Given the description of an element on the screen output the (x, y) to click on. 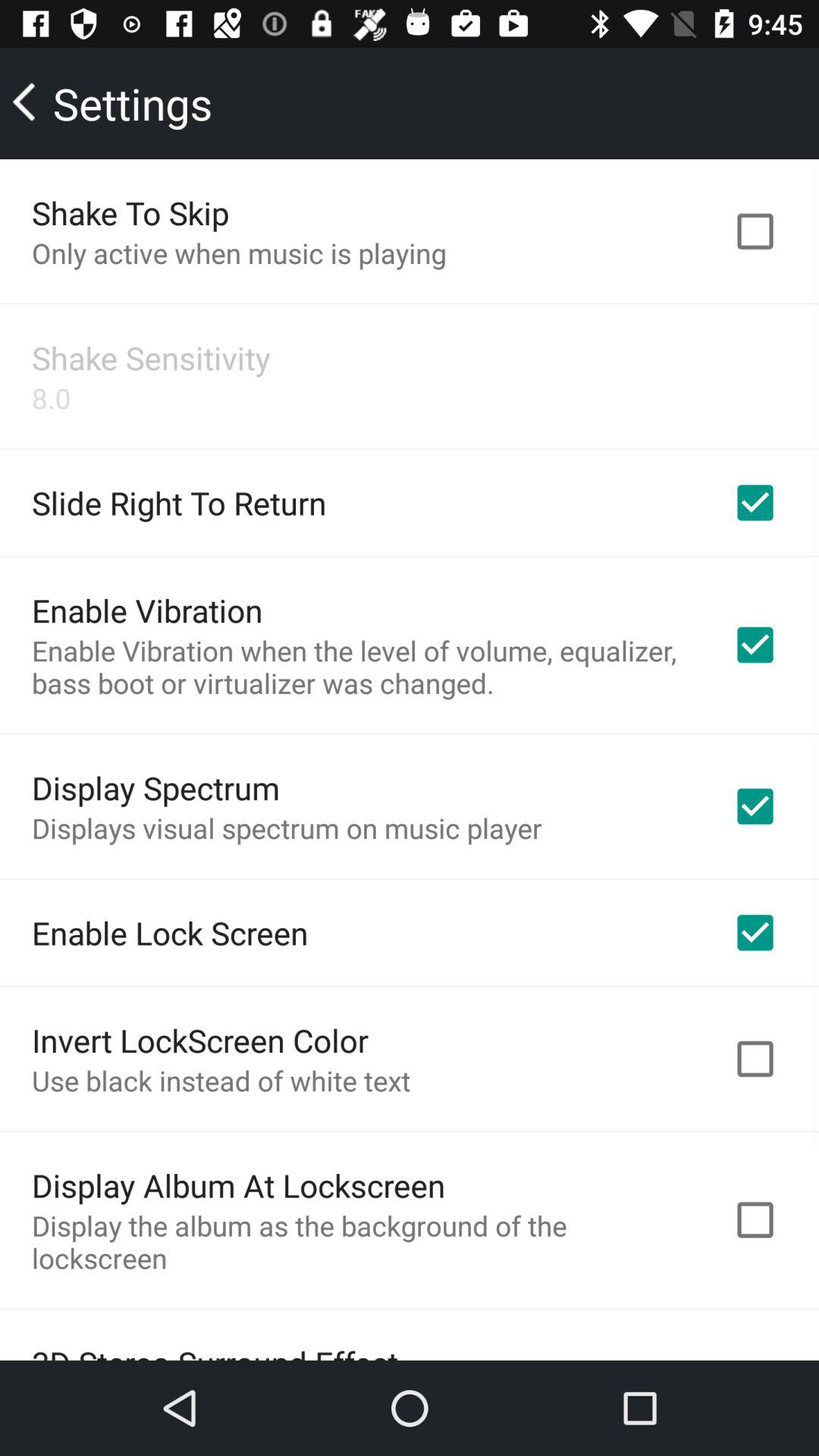
click the displays visual spectrum item (286, 827)
